Given the description of an element on the screen output the (x, y) to click on. 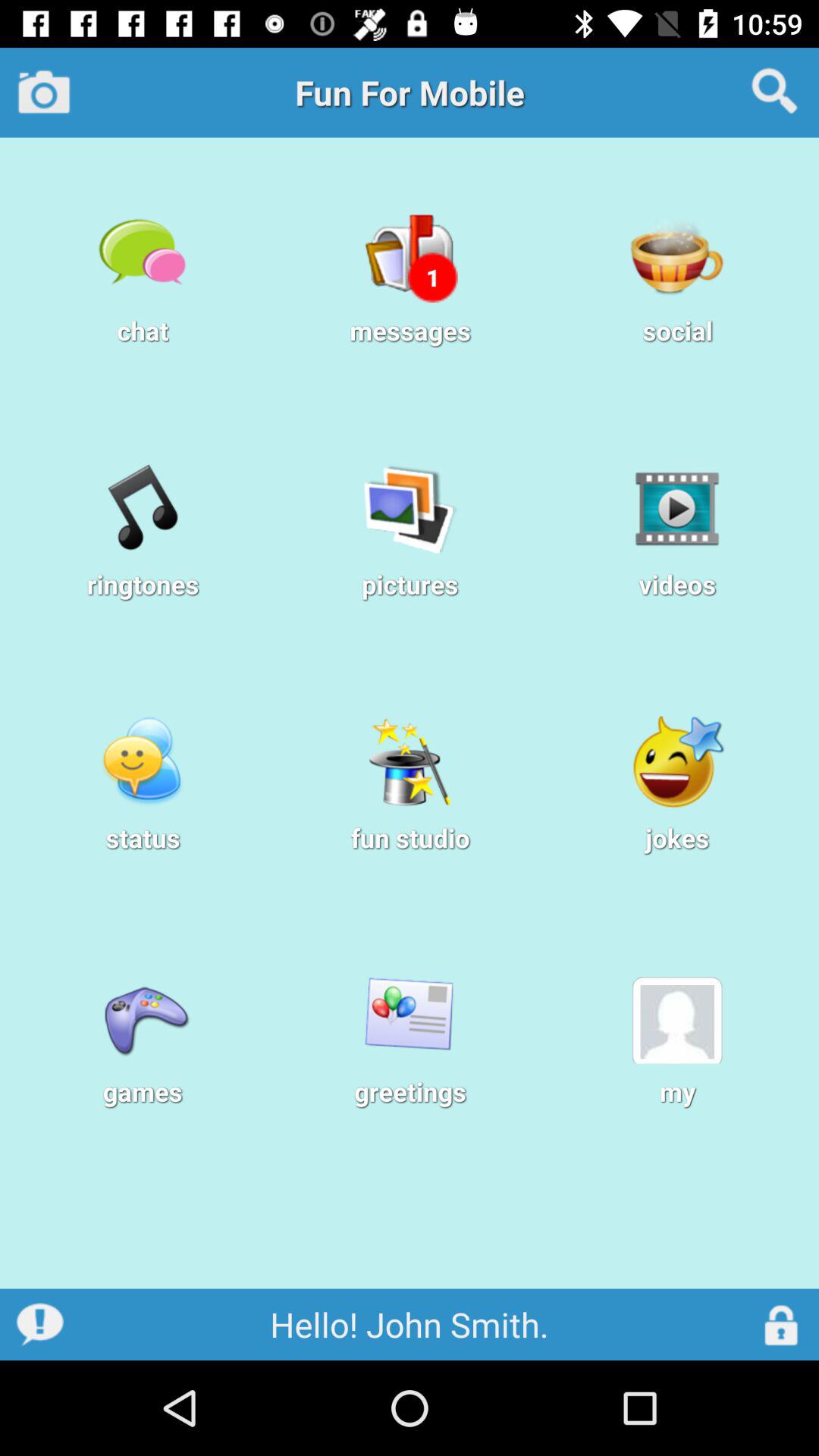
select the app below the games item (409, 1238)
